Given the description of an element on the screen output the (x, y) to click on. 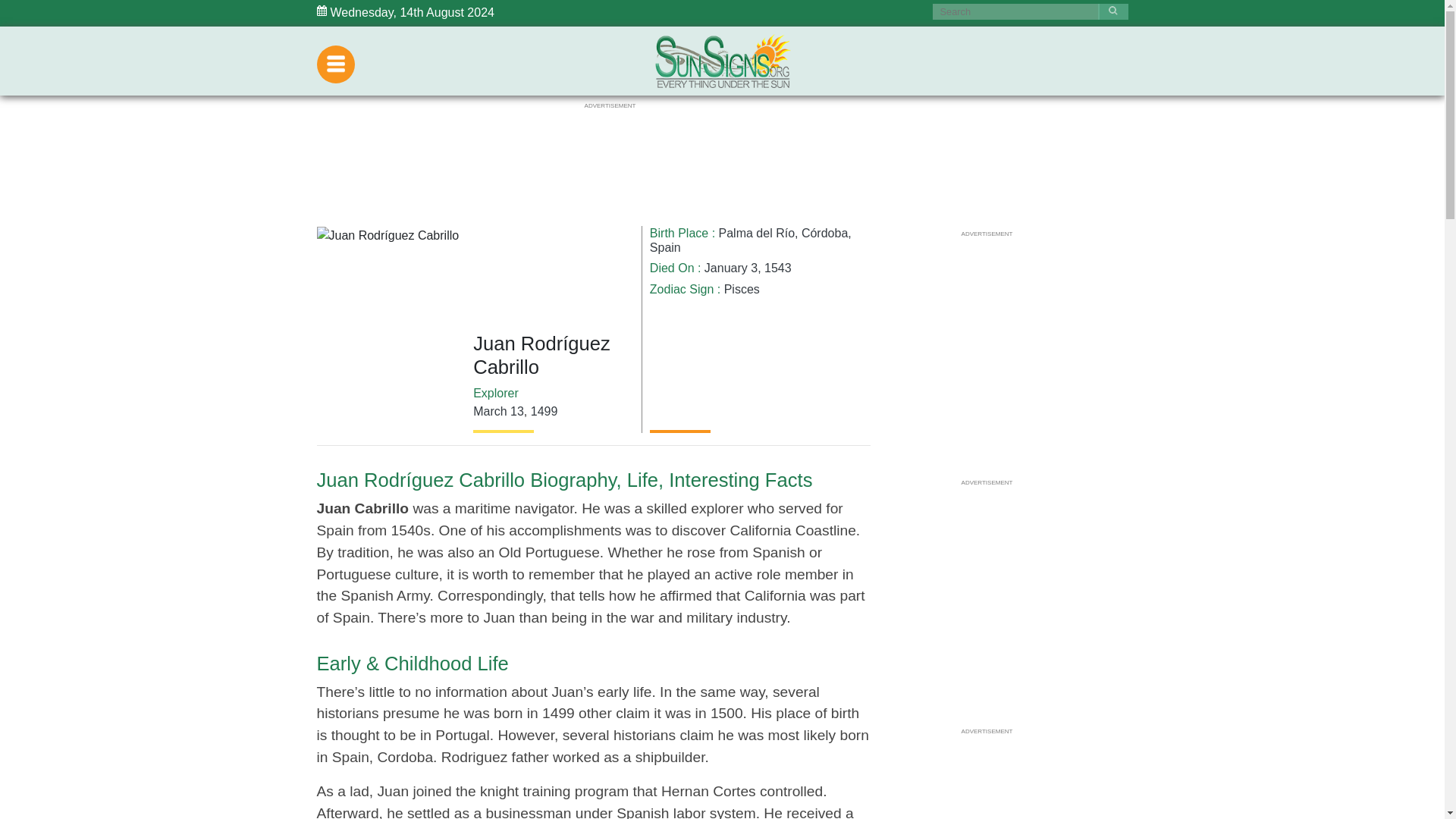
1499 (544, 410)
Zodiac Sign (681, 288)
1543 (778, 267)
Pisces (741, 288)
Explorer (495, 392)
January 3 (730, 267)
March 13 (498, 410)
Spain (665, 246)
